Given the description of an element on the screen output the (x, y) to click on. 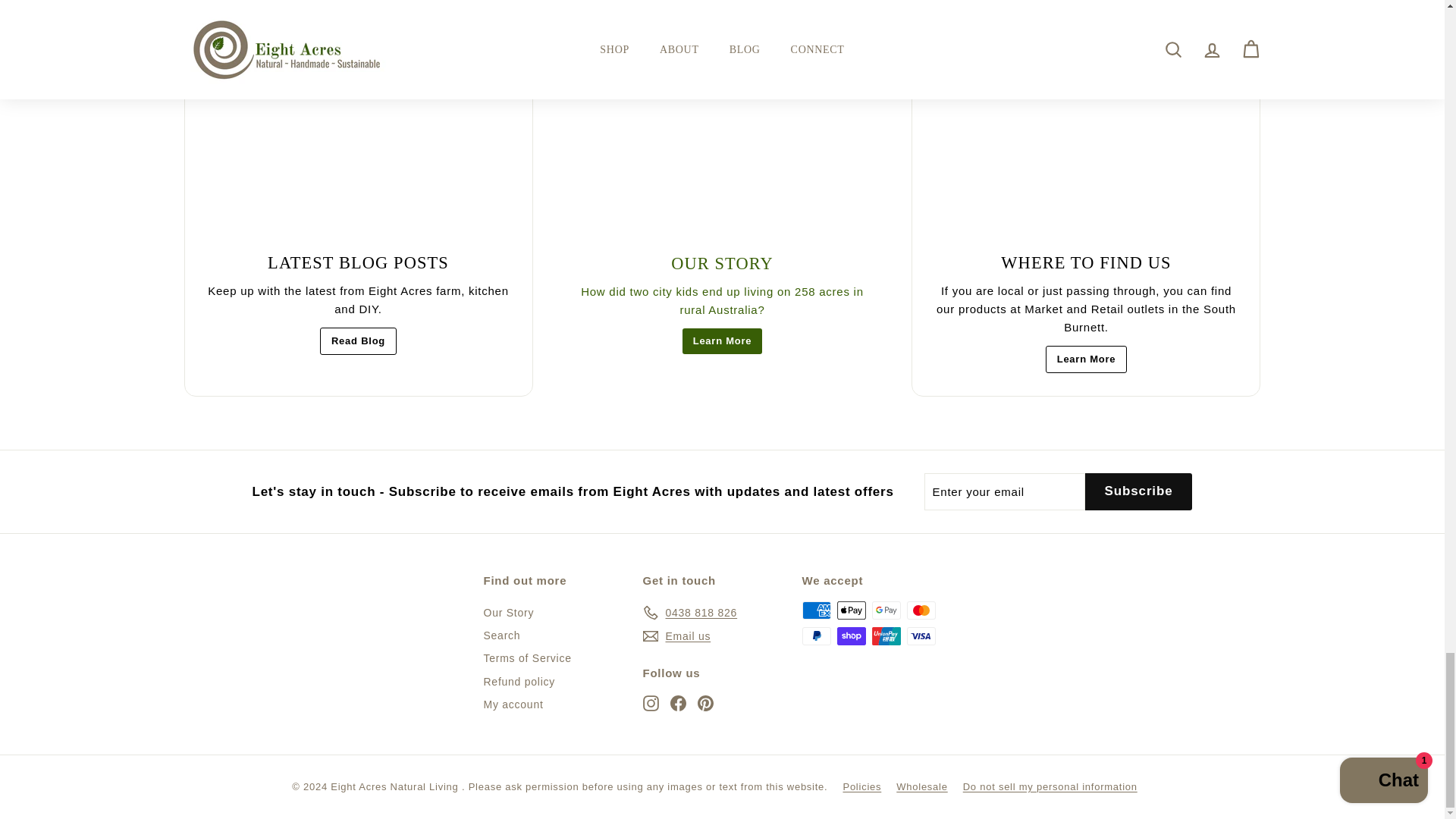
Google Pay (886, 610)
Mastercard (921, 610)
PayPal (816, 636)
Apple Pay (851, 610)
American Express (816, 610)
